Given the description of an element on the screen output the (x, y) to click on. 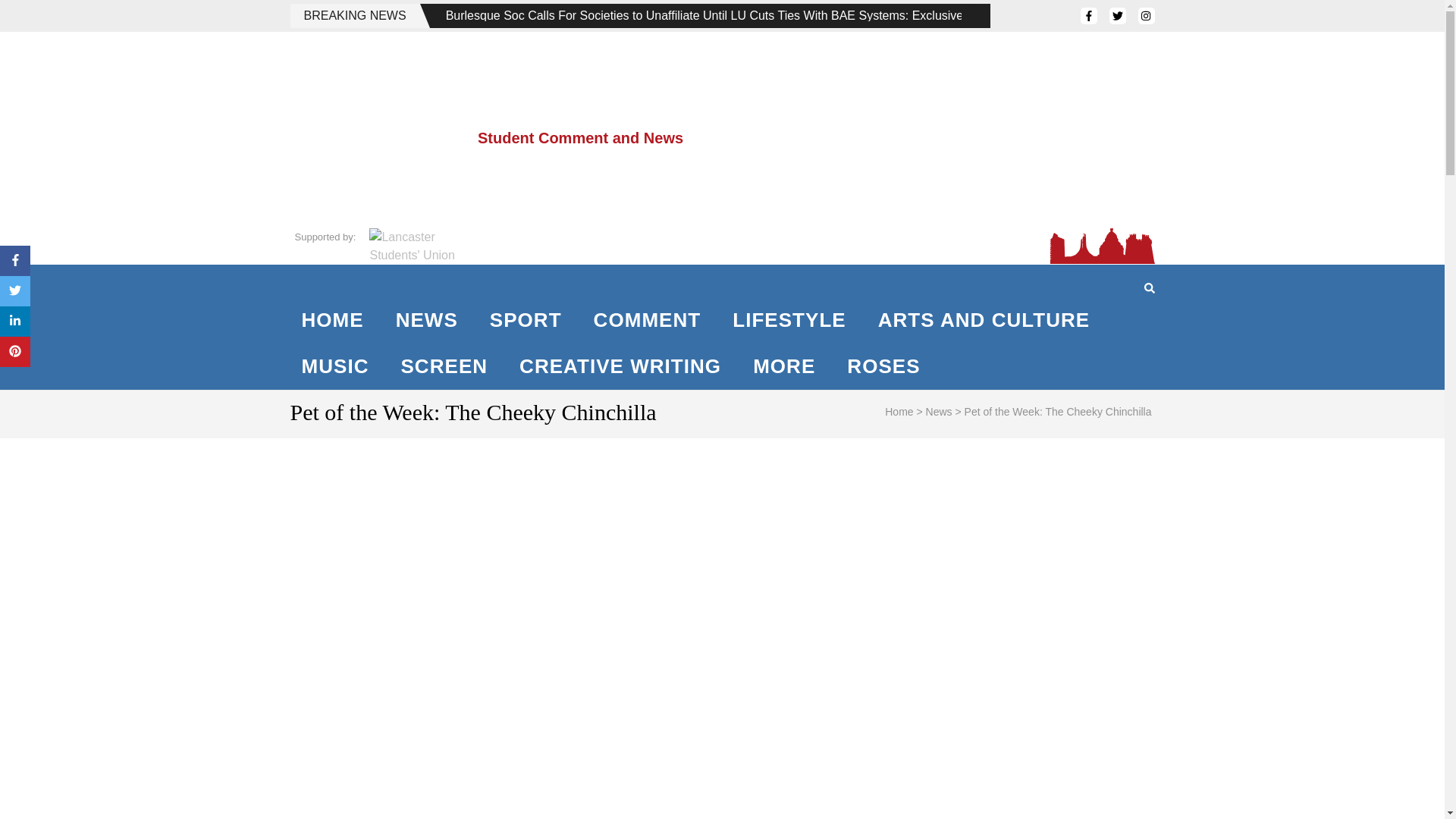
COMMENT (647, 320)
instagram (1145, 15)
News (939, 411)
LIFESTYLE (788, 320)
Lancaster Students' Union (414, 246)
facebook (1088, 15)
MORE (784, 366)
SCREEN (443, 366)
MUSIC (334, 366)
ARTS AND CULTURE (984, 320)
ROSES (883, 366)
HOME (331, 320)
BREAKING NEWS (354, 15)
NEWS (426, 320)
Home (898, 411)
